Given the description of an element on the screen output the (x, y) to click on. 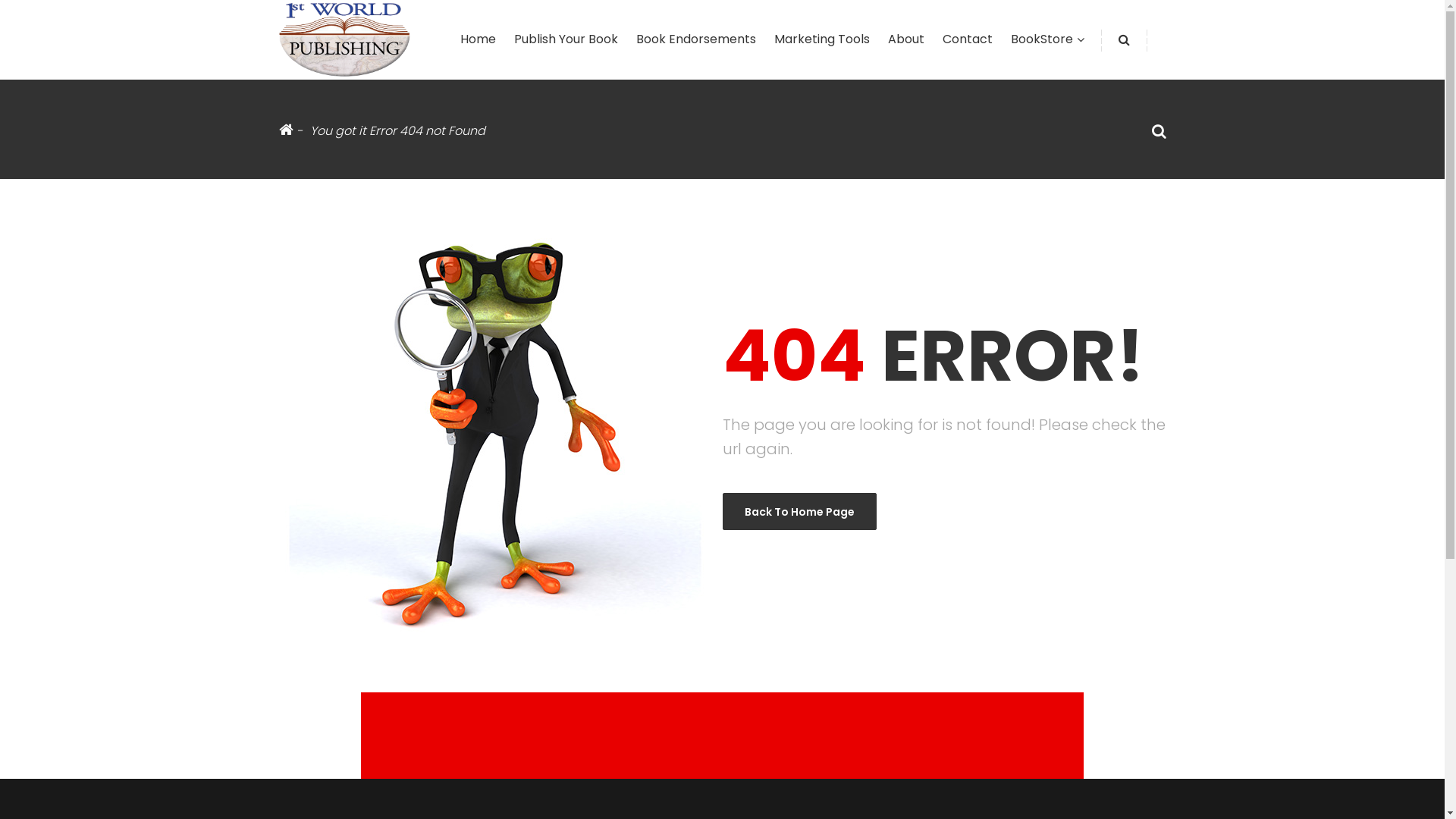
Back To Home Page Element type: text (798, 511)
About Element type: text (905, 39)
BookStore Element type: text (1041, 39)
Book Endorsements Element type: text (695, 39)
Contact Element type: text (966, 39)
- Element type: text (290, 130)
Marketing Tools Element type: text (821, 39)
Home Element type: text (477, 39)
1st World Publishing Element type: hover (344, 38)
Publish Your Book Element type: text (566, 39)
